Given the description of an element on the screen output the (x, y) to click on. 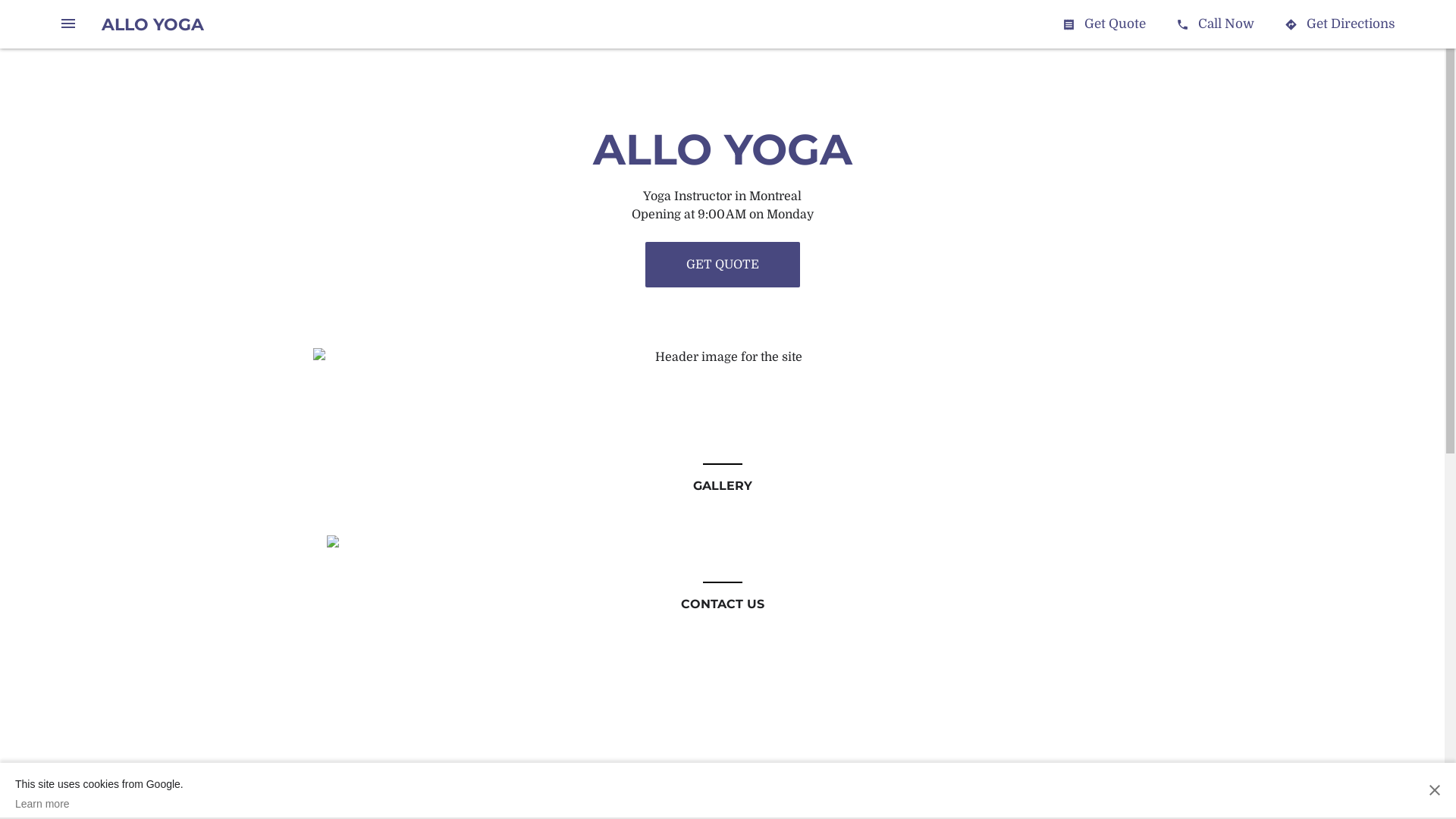
Learn more Element type: text (99, 803)
GET QUOTE Element type: text (721, 264)
ALLO YOGA Element type: text (152, 23)
